Given the description of an element on the screen output the (x, y) to click on. 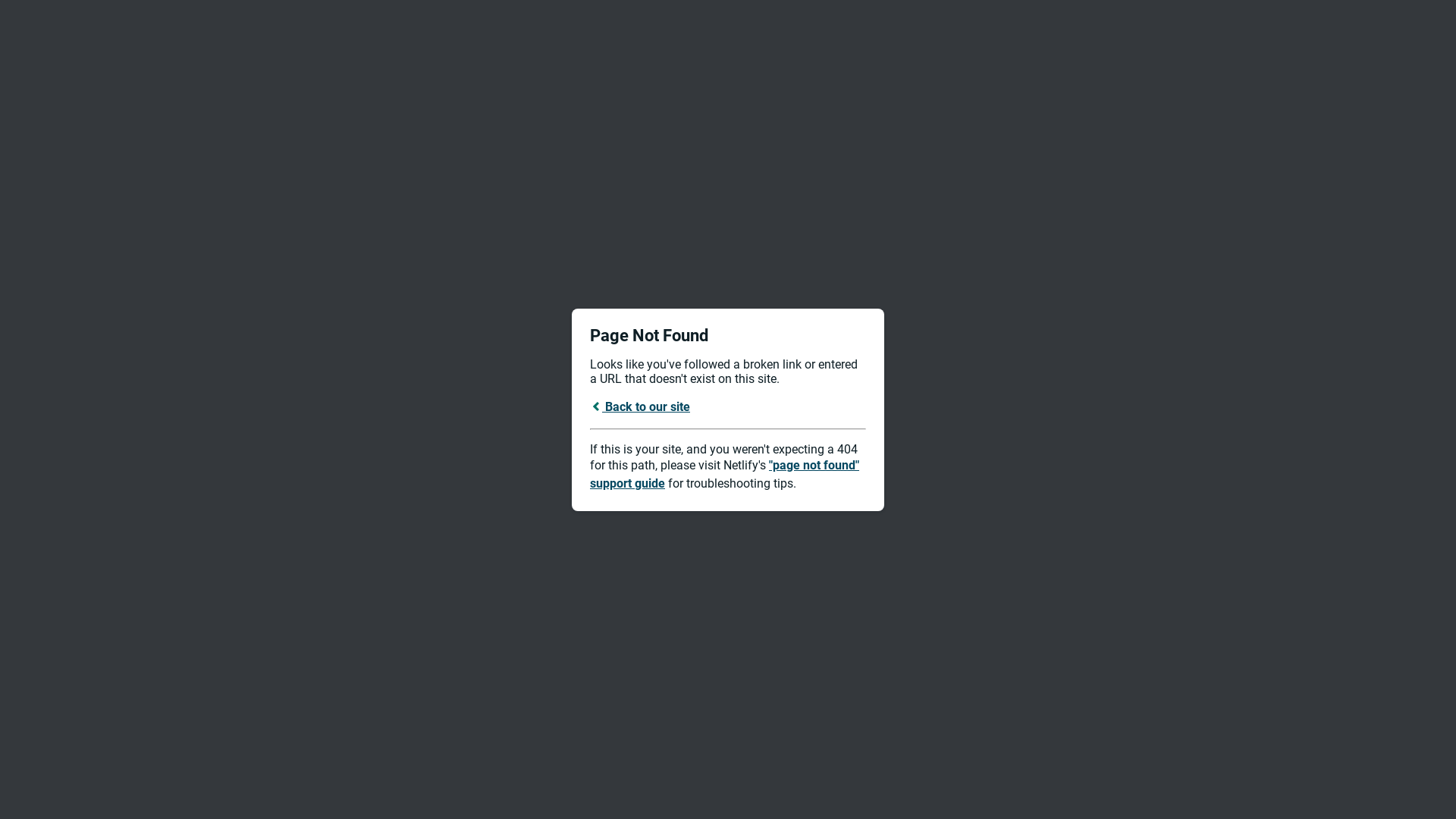
Back to our site Element type: text (639, 405)
"page not found" support guide Element type: text (724, 474)
